Given the description of an element on the screen output the (x, y) to click on. 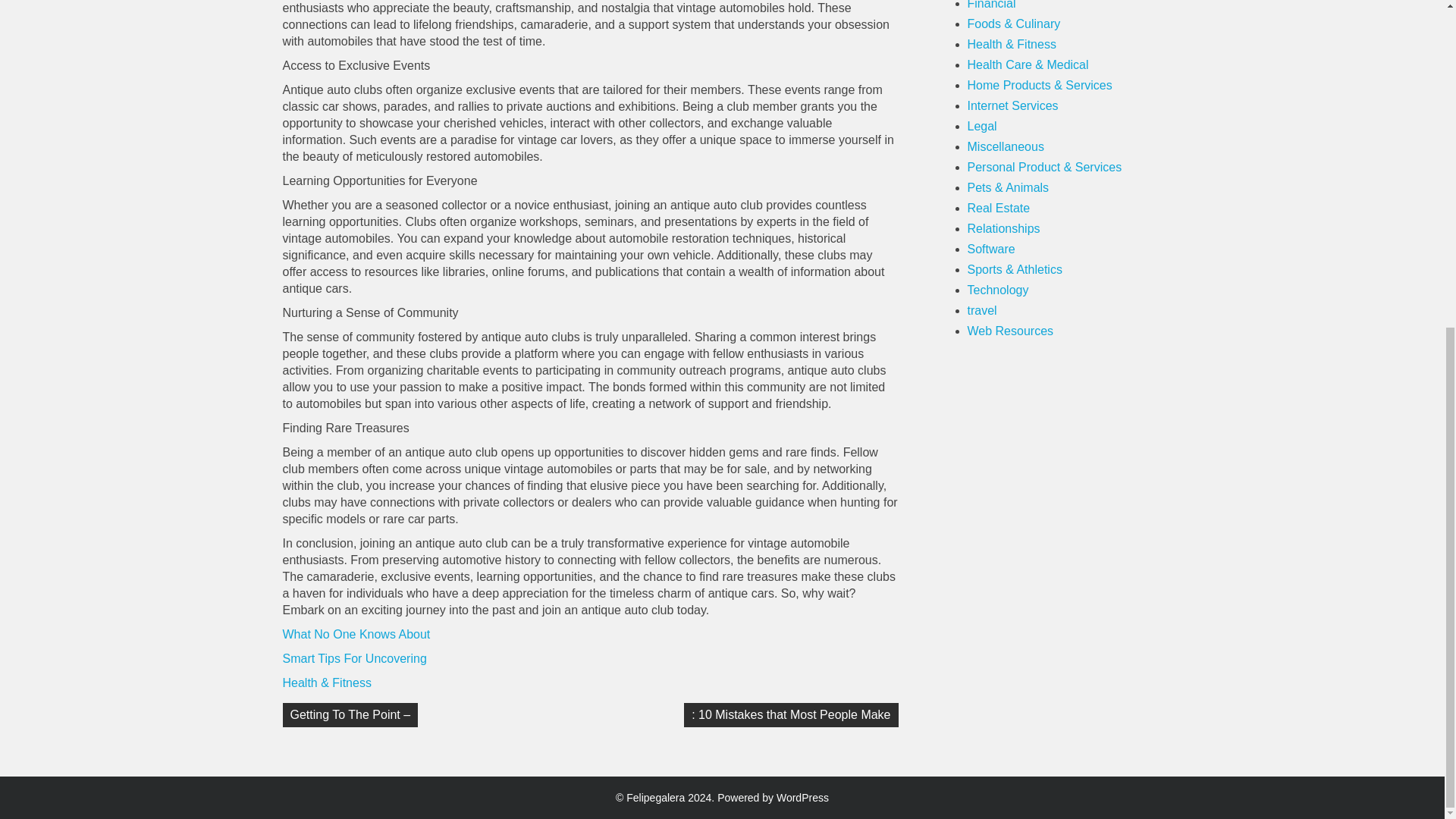
: 10 Mistakes that Most People Make (791, 714)
travel (982, 309)
Technology (998, 289)
Relationships (1004, 228)
Legal (982, 125)
Web Resources (1011, 330)
Real Estate (999, 207)
Financial (992, 4)
Software (991, 248)
Internet Services (1013, 105)
Smart Tips For Uncovering (354, 658)
What No One Knows About (355, 634)
Miscellaneous (1005, 146)
